Given the description of an element on the screen output the (x, y) to click on. 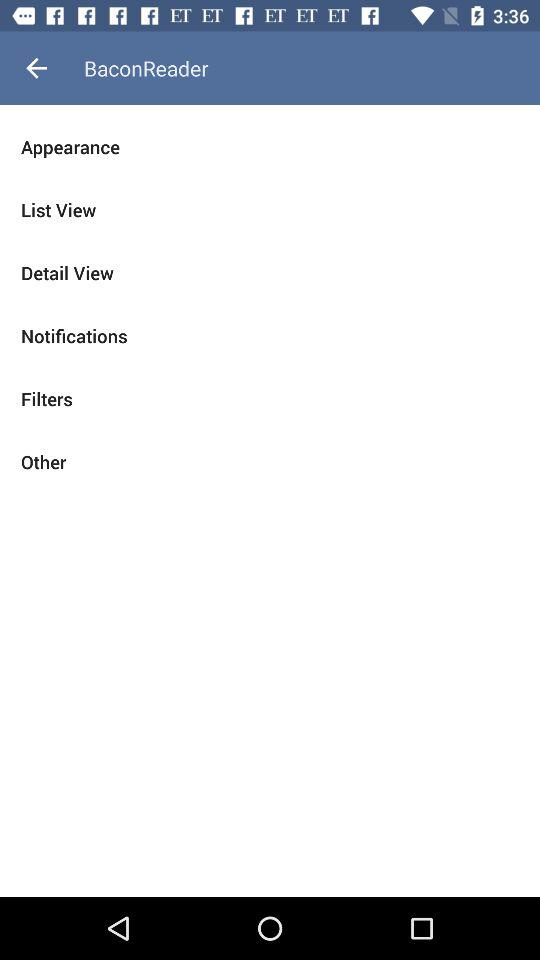
turn on item below notifications icon (270, 398)
